Given the description of an element on the screen output the (x, y) to click on. 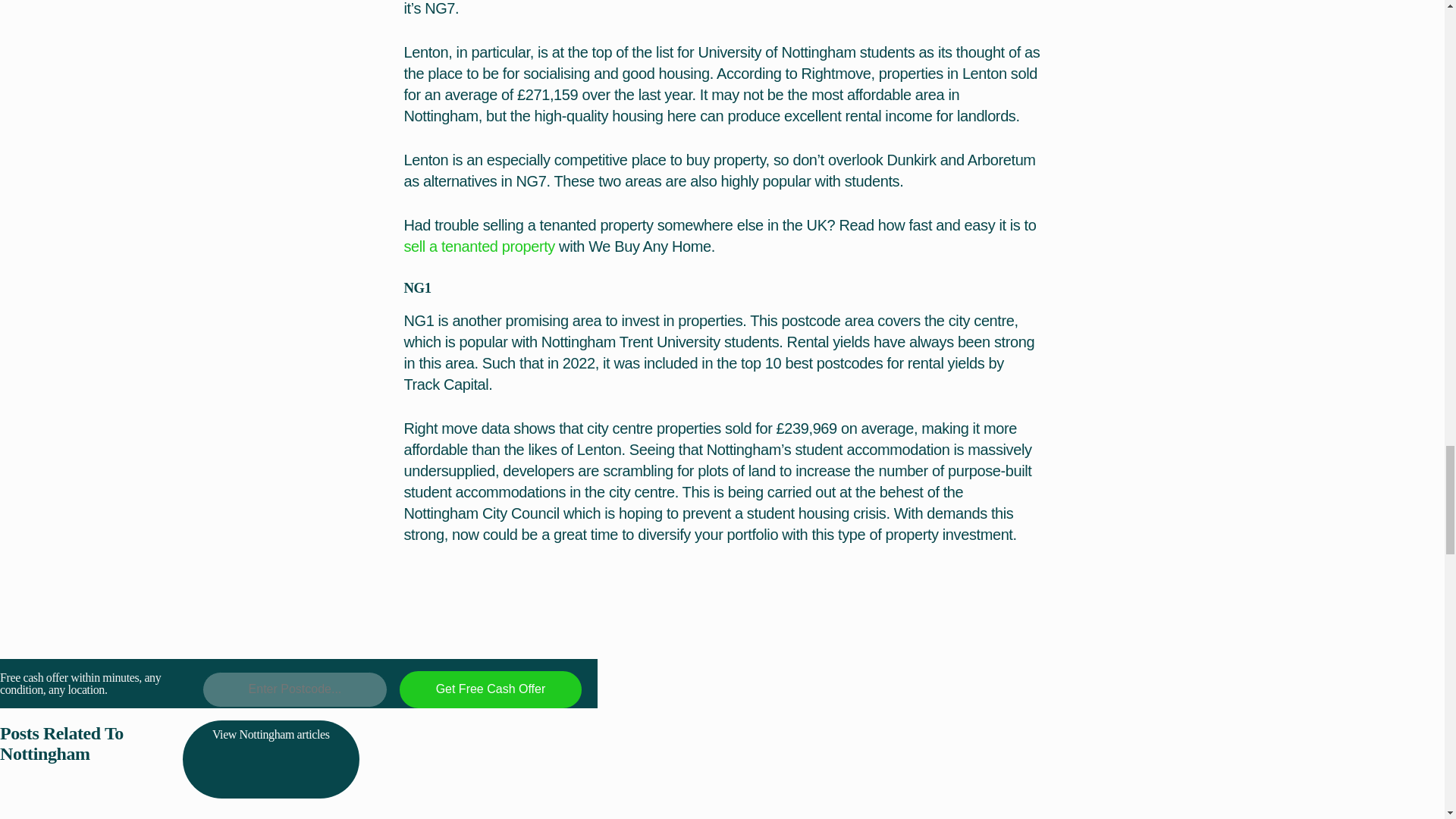
View Nottingham articles (271, 759)
sell a tenanted property (478, 246)
Get Free Cash Offer (489, 688)
